Given the description of an element on the screen output the (x, y) to click on. 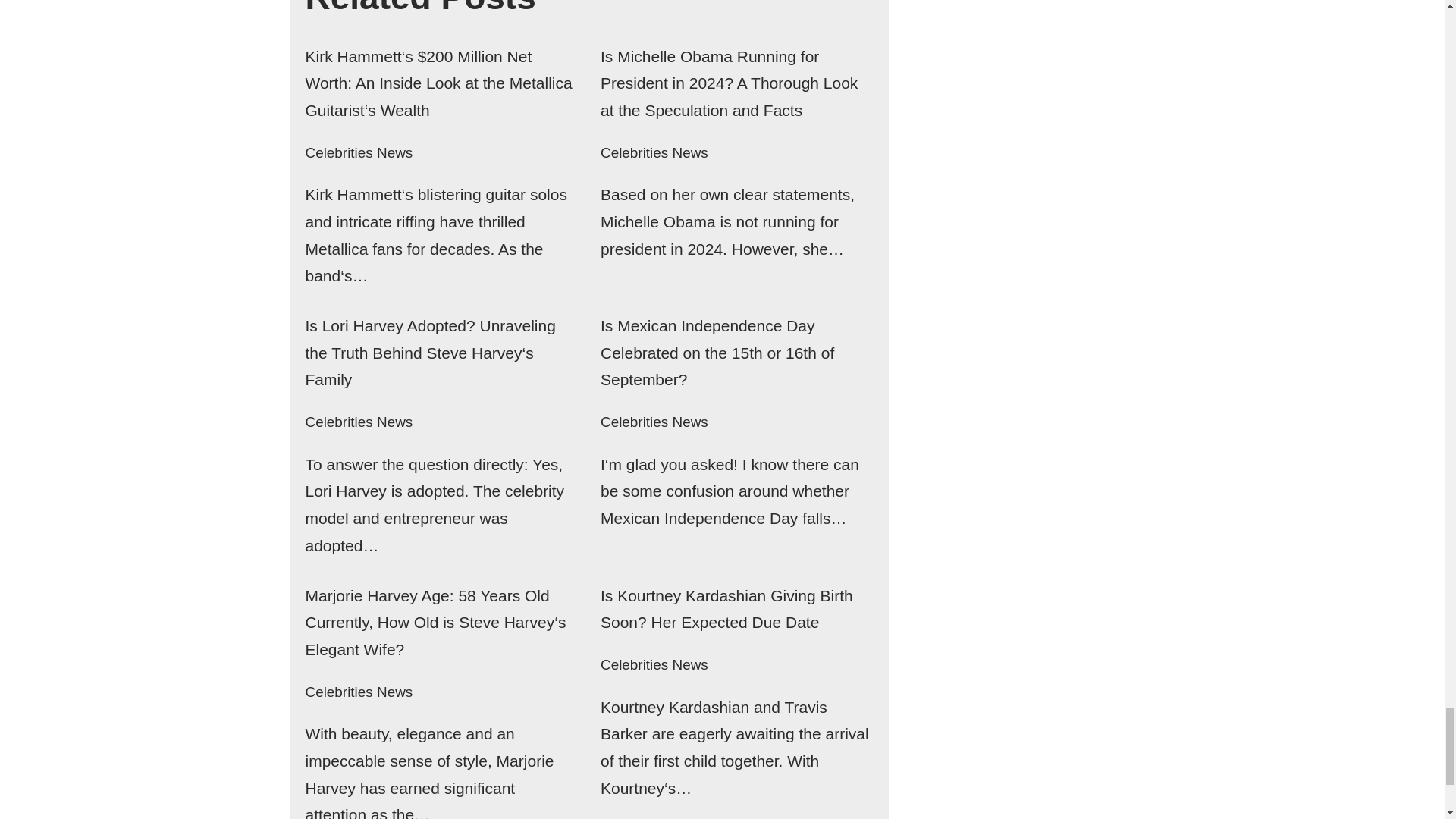
Celebrities News (653, 421)
Celebrities News (358, 421)
Celebrities News (358, 152)
Celebrities News (653, 152)
